Given the description of an element on the screen output the (x, y) to click on. 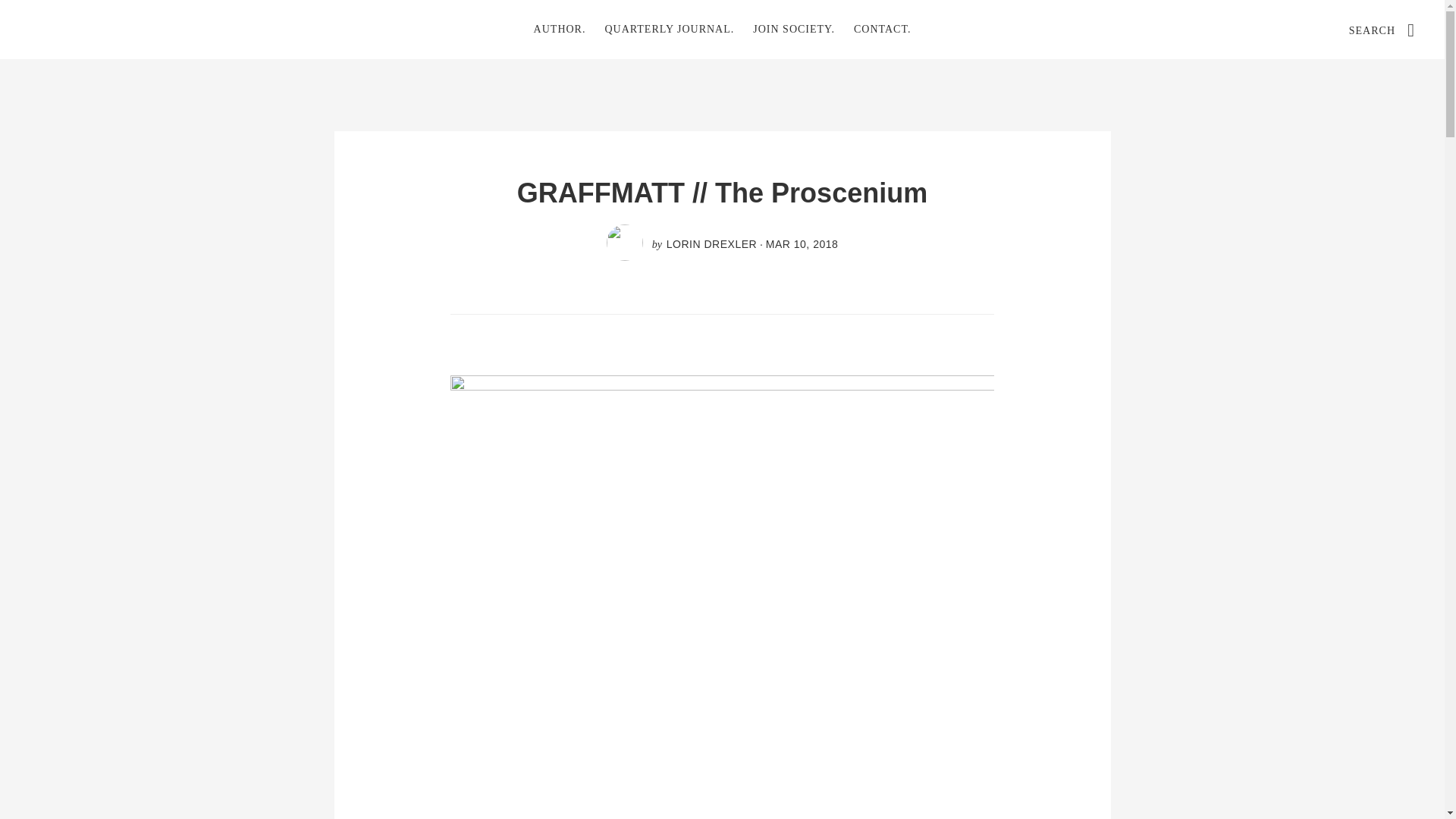
QUARTERLY JOURNAL. (668, 29)
GEN SOCIETY (143, 28)
LORIN DREXLER (711, 244)
AUTHOR. (559, 29)
CONTACT. (881, 29)
JOIN SOCIETY. (794, 29)
